Given the description of an element on the screen output the (x, y) to click on. 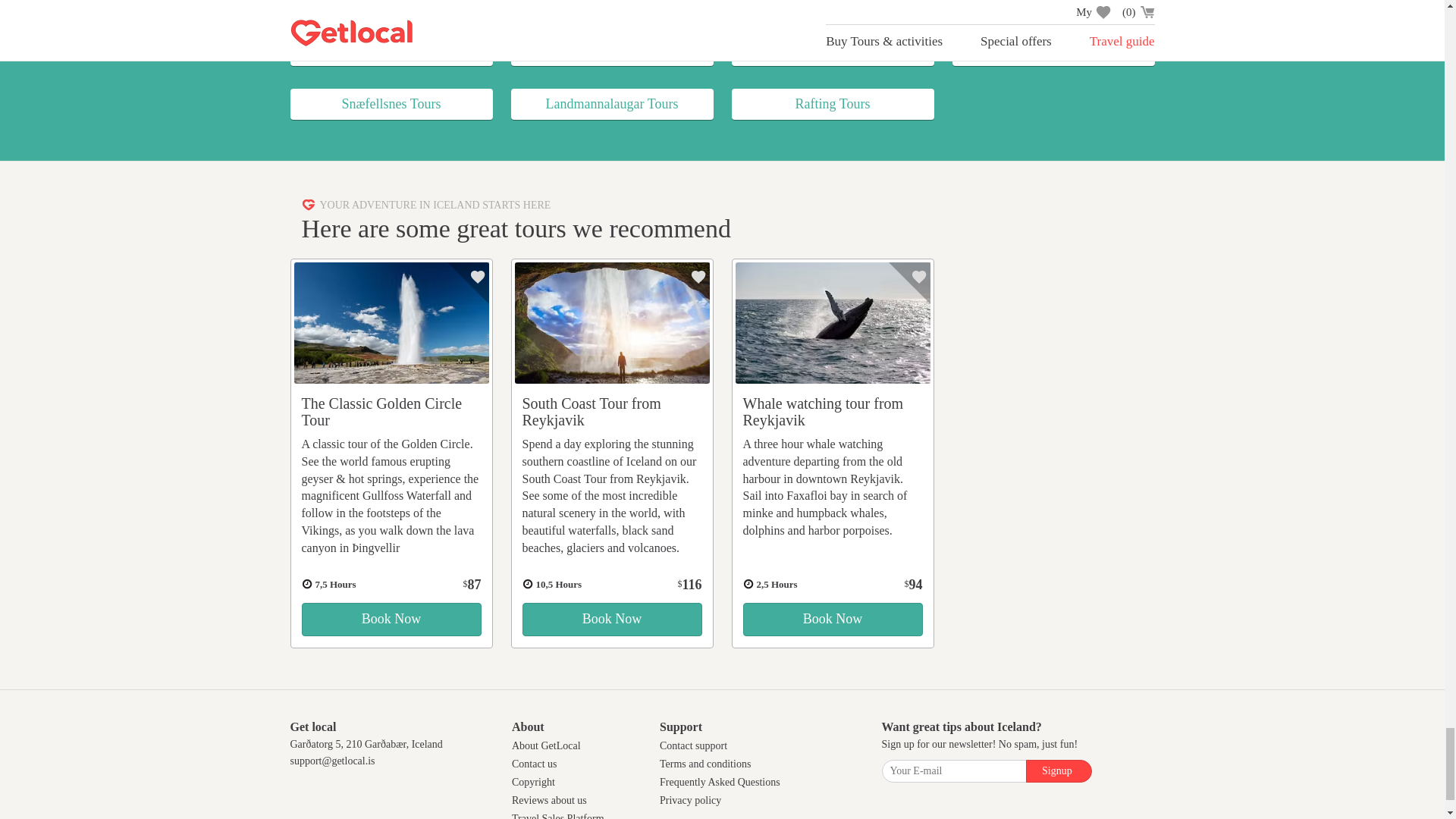
South Coast Tour from Reykjavik (591, 411)
Signup (1059, 771)
Whale watching tour from Reykjavik (832, 323)
Whale watching tour from Reykjavik (823, 411)
South Coast Tour from Reykjavik (611, 323)
The Classic Golden Circle Tour (382, 411)
The Classic Golden Circle Tour (391, 619)
The Classic Golden Circle Tour (391, 323)
South Coast Tour from Reykjavik (611, 619)
